Given the description of an element on the screen output the (x, y) to click on. 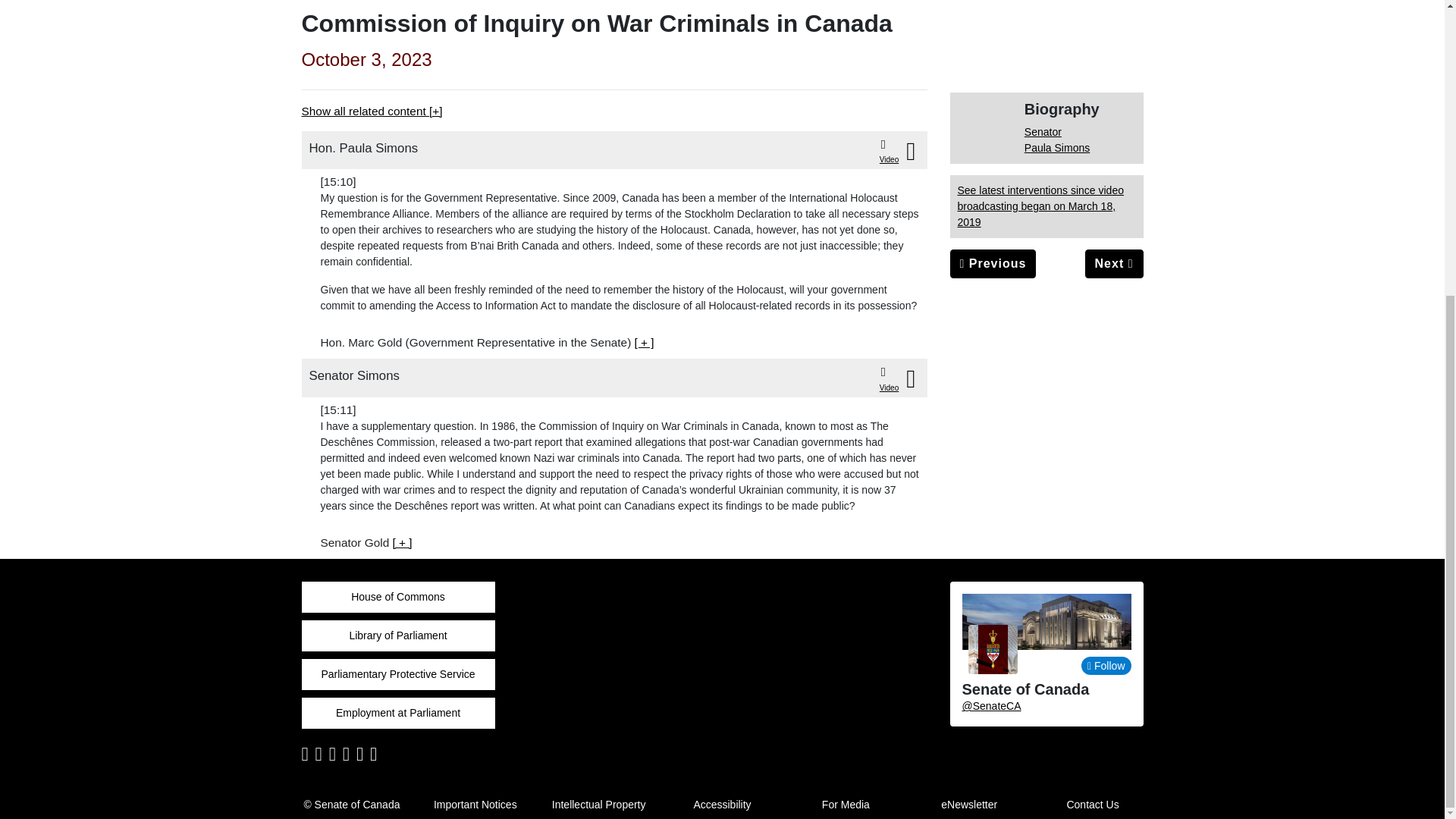
Next (1113, 263)
Previous (992, 263)
